Given the description of an element on the screen output the (x, y) to click on. 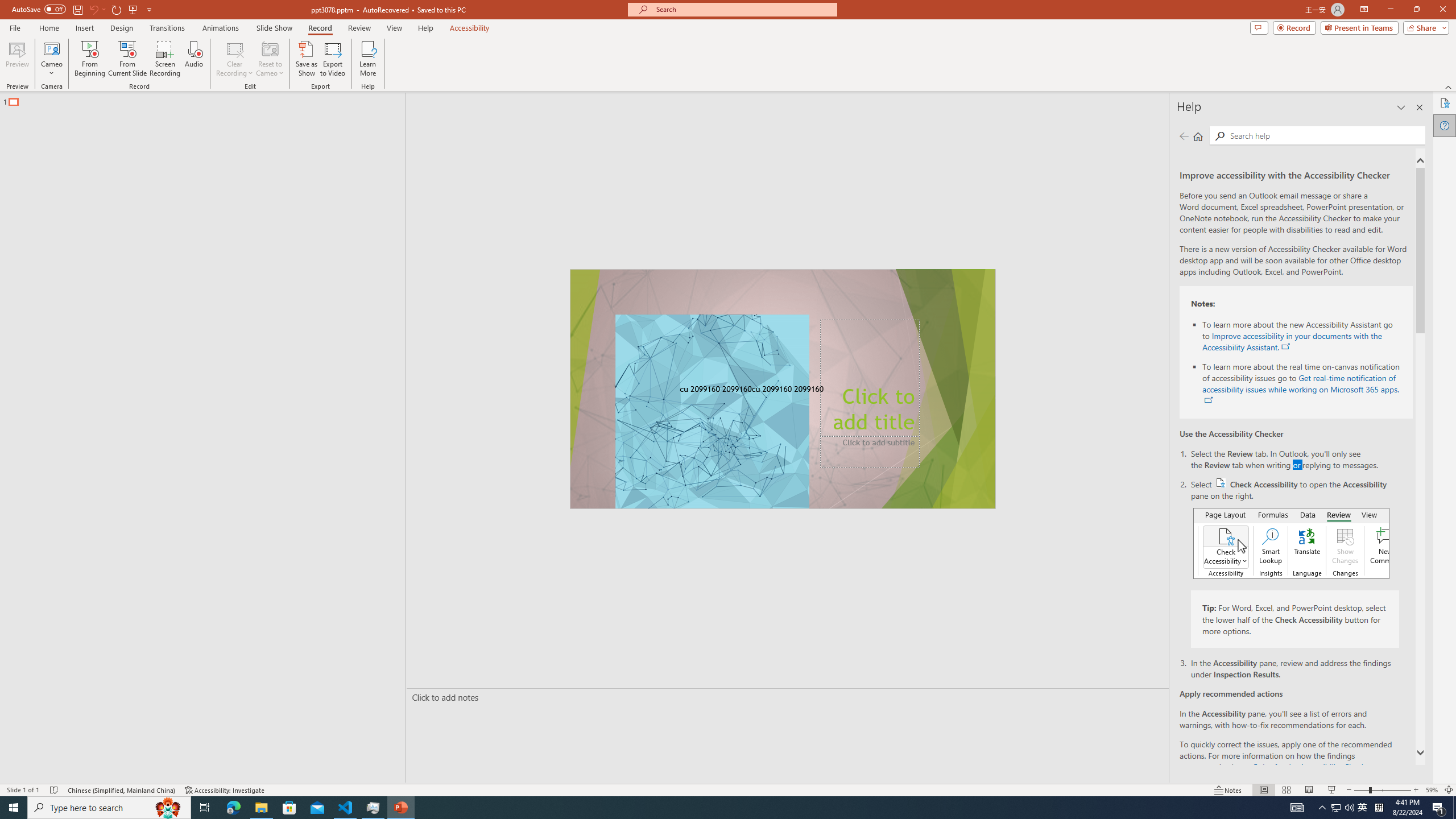
Check accessibility button (1220, 482)
Export to Video (332, 58)
Save as Show (306, 58)
From Current Slide... (127, 58)
Clear Recording (234, 58)
From Beginning... (89, 58)
